Given the description of an element on the screen output the (x, y) to click on. 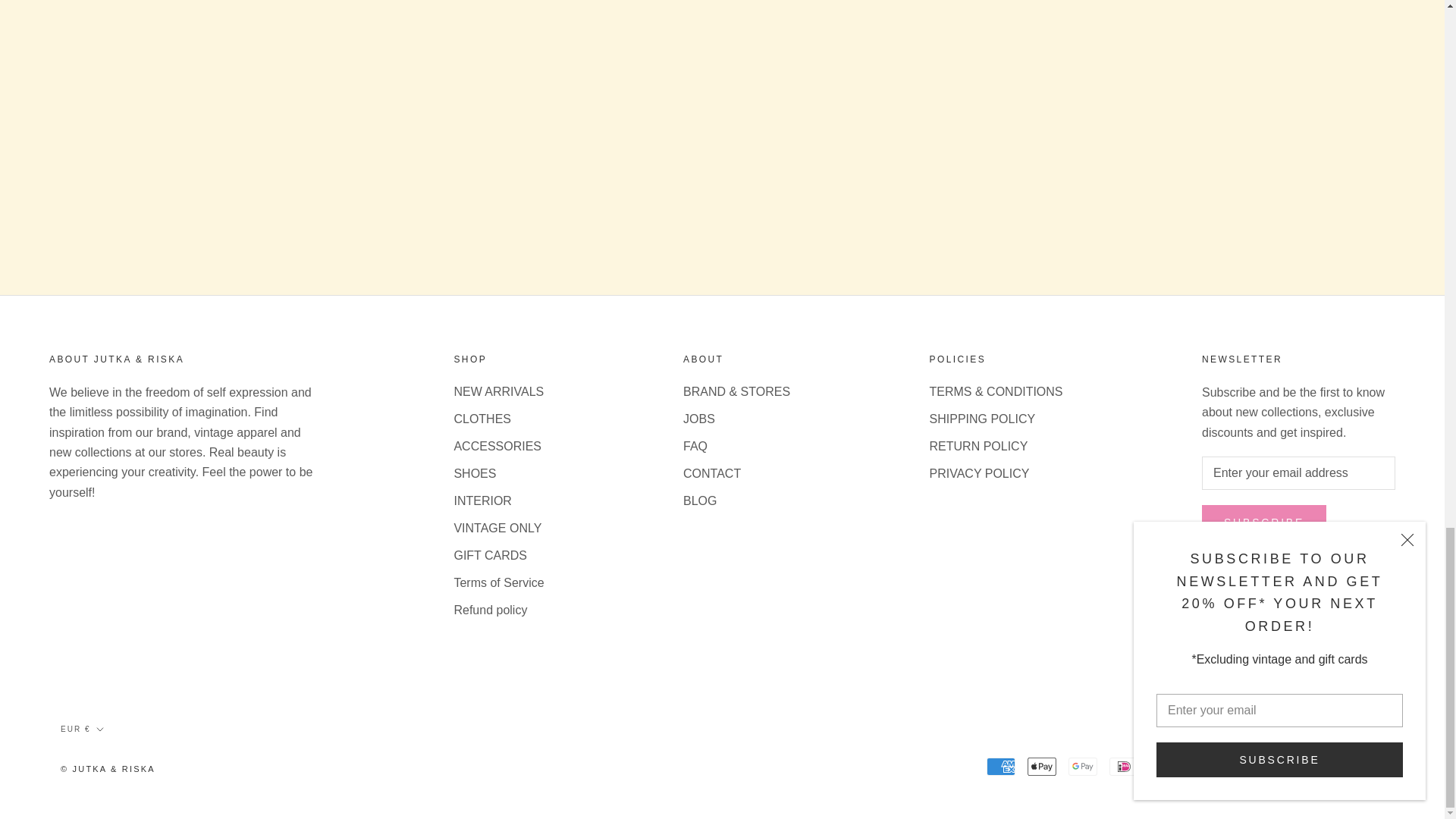
PayPal (1245, 766)
American Express (1000, 766)
Shop Pay (1286, 766)
Union Pay (1328, 766)
Google Pay (1082, 766)
Mastercard (1205, 766)
Visa (1369, 766)
Apple Pay (1042, 766)
Maestro (1164, 766)
iDEAL (1123, 766)
